Given the description of an element on the screen output the (x, y) to click on. 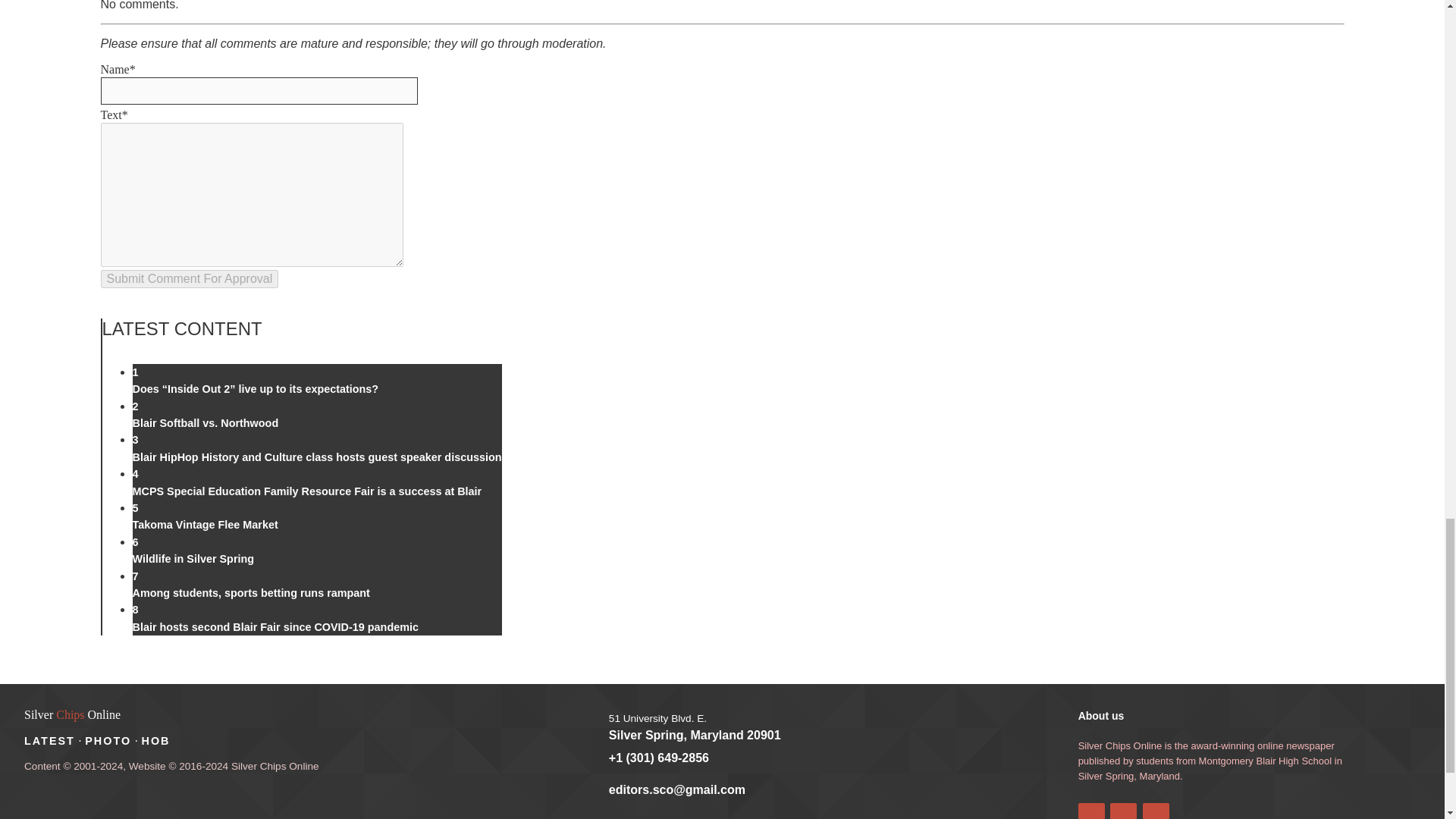
PHOTO (107, 740)
LATEST (49, 740)
Takoma Vintage Flee Market (205, 524)
HOB (155, 740)
Blair Softball vs. Northwood (205, 422)
Blair hosts second Blair Fair since COVID-19 pandemic (274, 626)
Among students, sports betting runs rampant (250, 592)
Submit Comment For Approval (189, 279)
Wildlife in Silver Spring (192, 558)
